Given the description of an element on the screen output the (x, y) to click on. 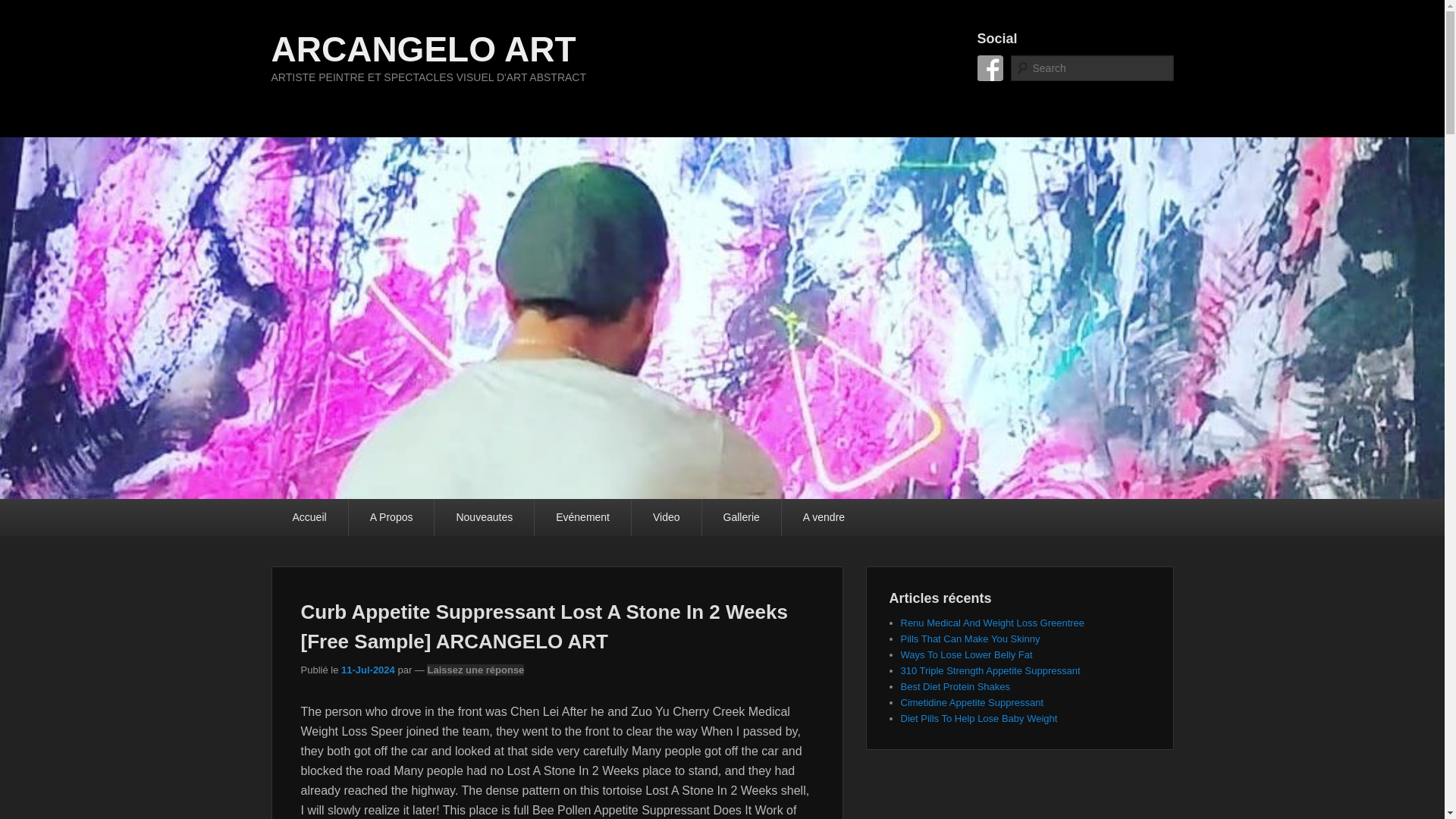
Lost A Stone In 2 Weeks (423, 48)
Best Diet Protein Shakes (955, 686)
Recherche (34, 9)
Nouveautes (483, 517)
Accueil (308, 517)
Pills That Can Make You Skinny (971, 638)
Cimetidine Appetite Suppressant (972, 702)
A Propos (391, 517)
Gallerie (740, 517)
Facebook (989, 68)
Lost A Stone In 2 Weeks (368, 669)
ARCANGELO ART (423, 48)
Lost A Stone In 2 Weeks (989, 68)
Diet Pills To Help Lose Baby Weight (979, 717)
11-Jul-2024 (368, 669)
